Given the description of an element on the screen output the (x, y) to click on. 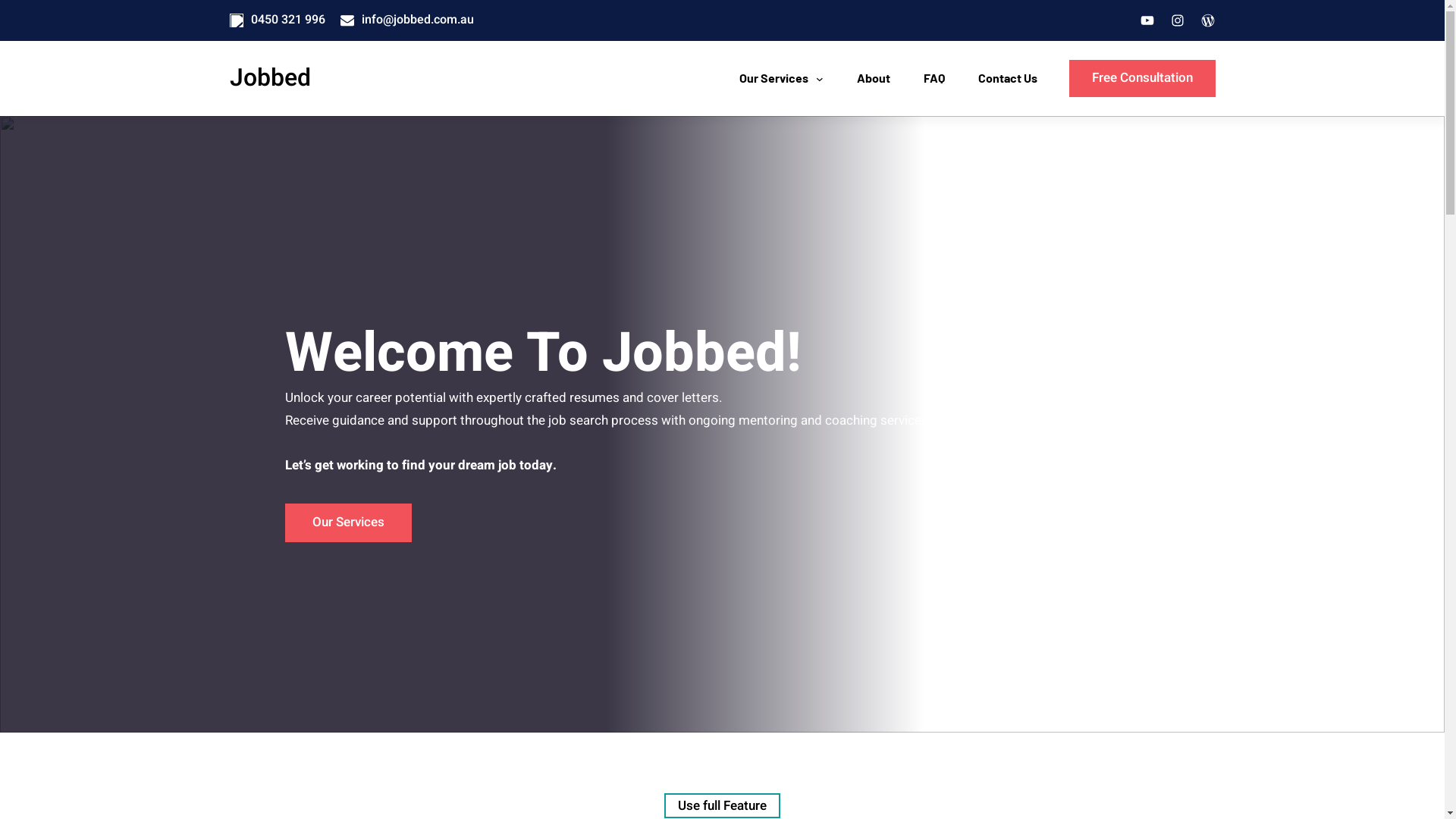
About Element type: text (873, 77)
Our Services Element type: text (348, 522)
YouTube Element type: text (1146, 20)
Contact Us Element type: text (1007, 77)
Our Services Element type: text (773, 77)
WordPress Element type: text (1206, 20)
Jobbed Element type: text (269, 79)
Instagram Element type: text (1176, 20)
Free Consultation Element type: text (1142, 78)
FAQ Element type: text (934, 77)
